Given the description of an element on the screen output the (x, y) to click on. 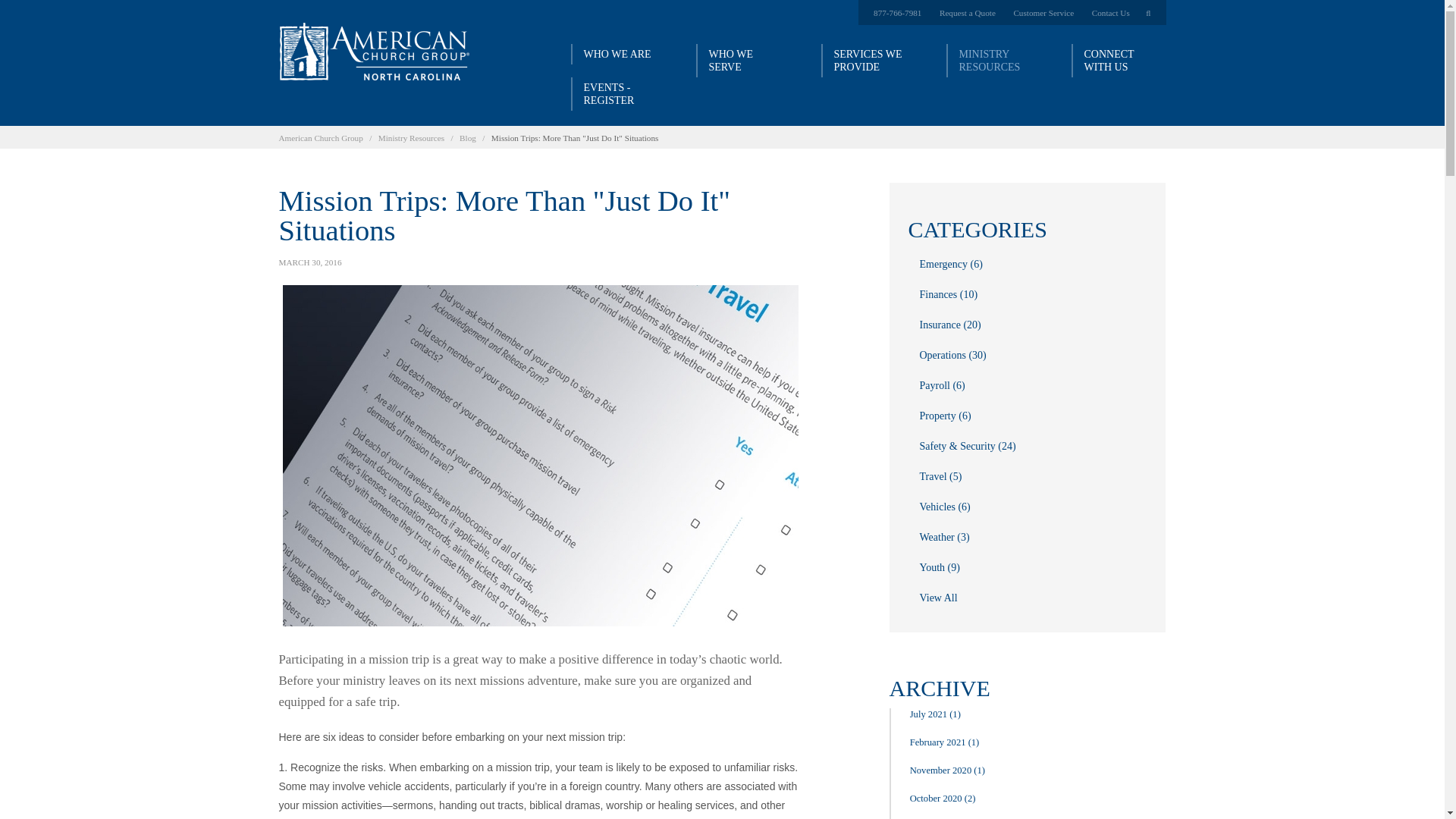
CONNECT WITH US (1118, 60)
American Church Group - North Carolina (374, 51)
MINISTRY RESOURCES (993, 60)
Search (1153, 12)
Contact Us (1110, 12)
WHO WE ARE (617, 54)
Customer Service (1043, 12)
WHO WE SERVE (742, 60)
American Church Group (320, 137)
Request a Quote (967, 12)
SERVICES WE PROVIDE (868, 60)
EVENTS - REGISTER (617, 93)
